Given the description of an element on the screen output the (x, y) to click on. 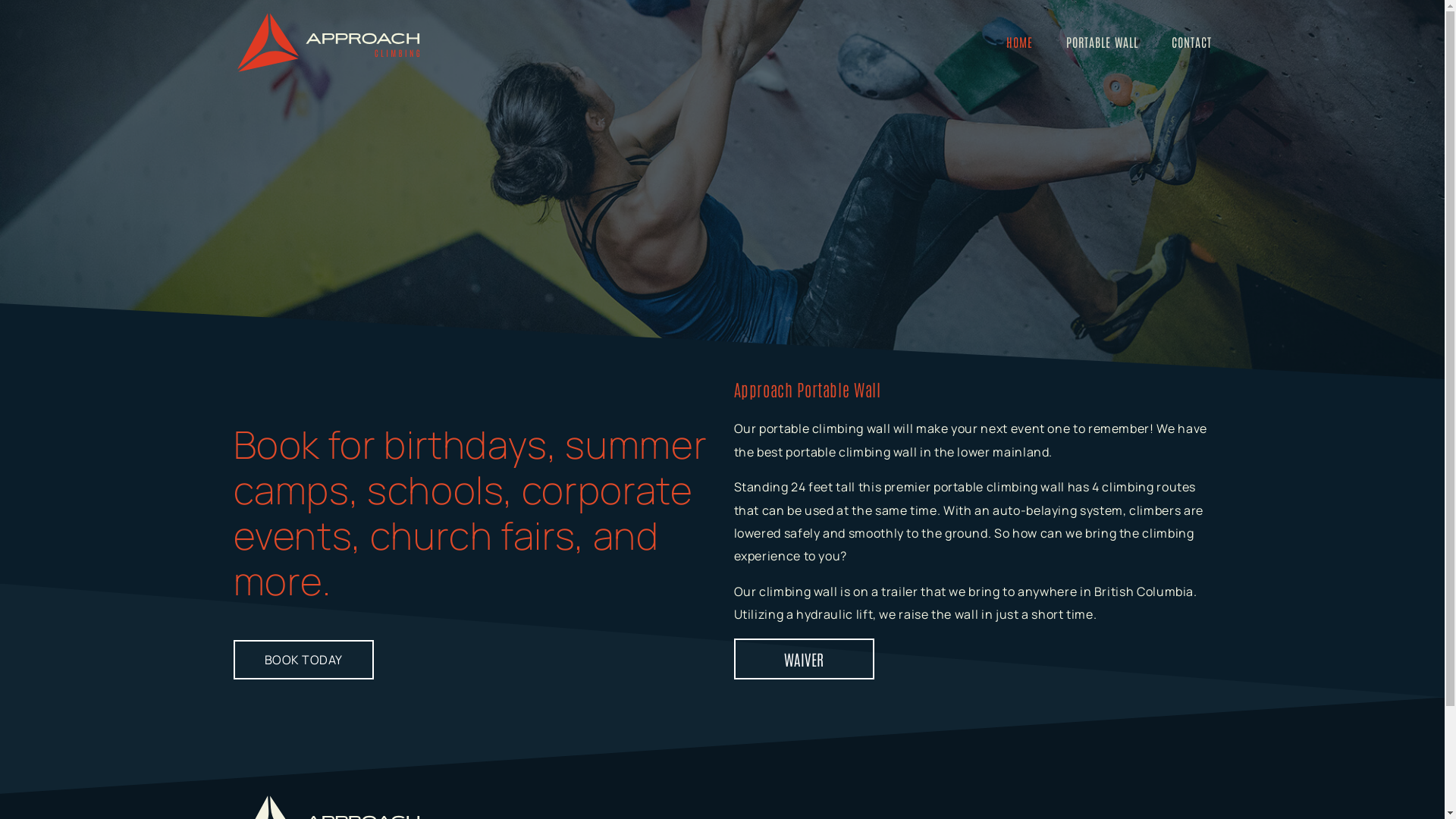
CONTACT Element type: text (1190, 41)
WAIVER Element type: text (804, 658)
BOOK TODAY Element type: text (303, 659)
PORTABLE WALL Element type: text (1102, 41)
HOME Element type: text (1019, 41)
